Given the description of an element on the screen output the (x, y) to click on. 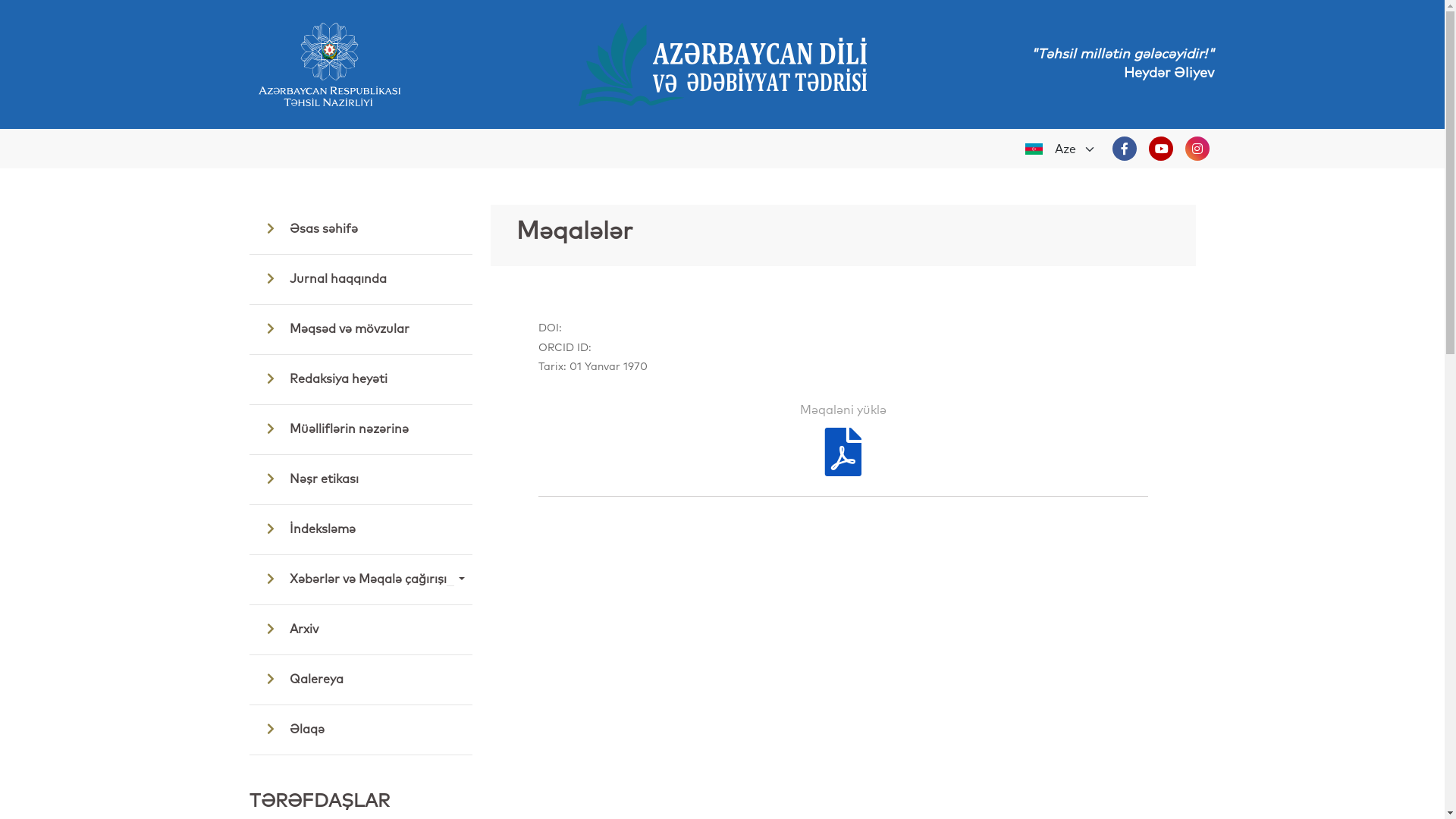
Qalereya Element type: text (360, 679)
Arxiv Element type: text (360, 629)
